Given the description of an element on the screen output the (x, y) to click on. 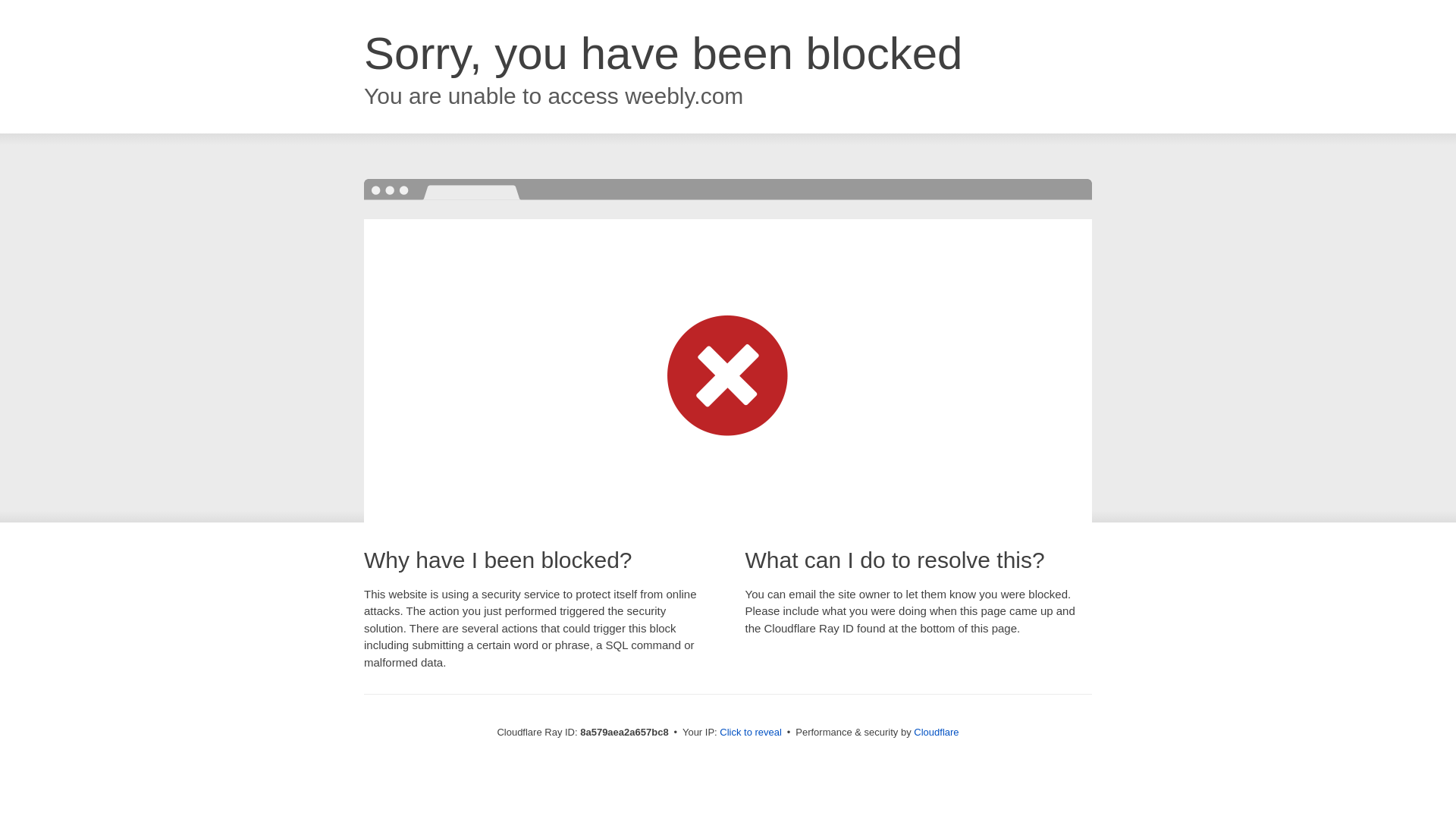
Cloudflare (936, 731)
Click to reveal (750, 732)
